Given the description of an element on the screen output the (x, y) to click on. 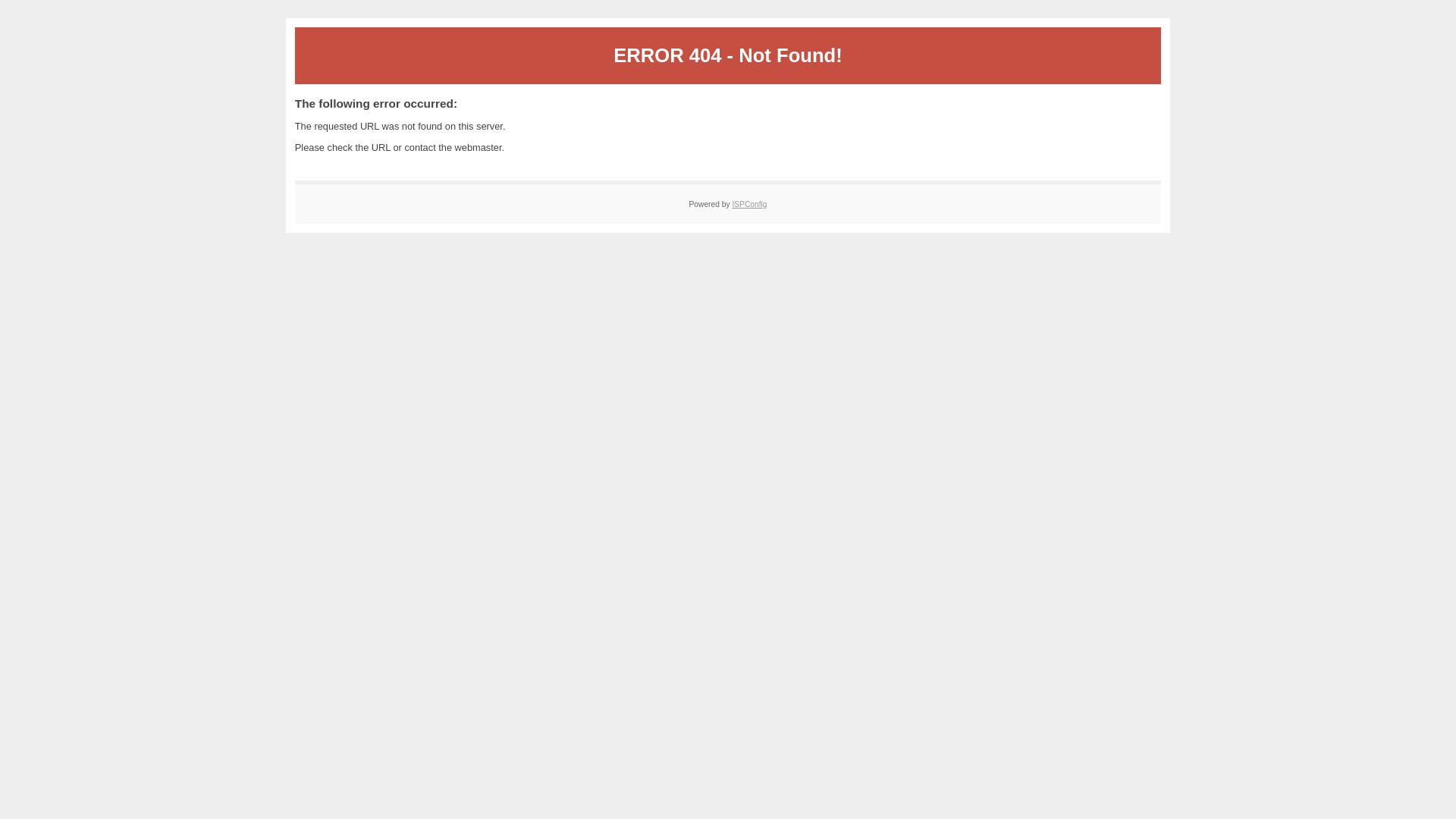
ISPConfig Element type: text (748, 204)
